Given the description of an element on the screen output the (x, y) to click on. 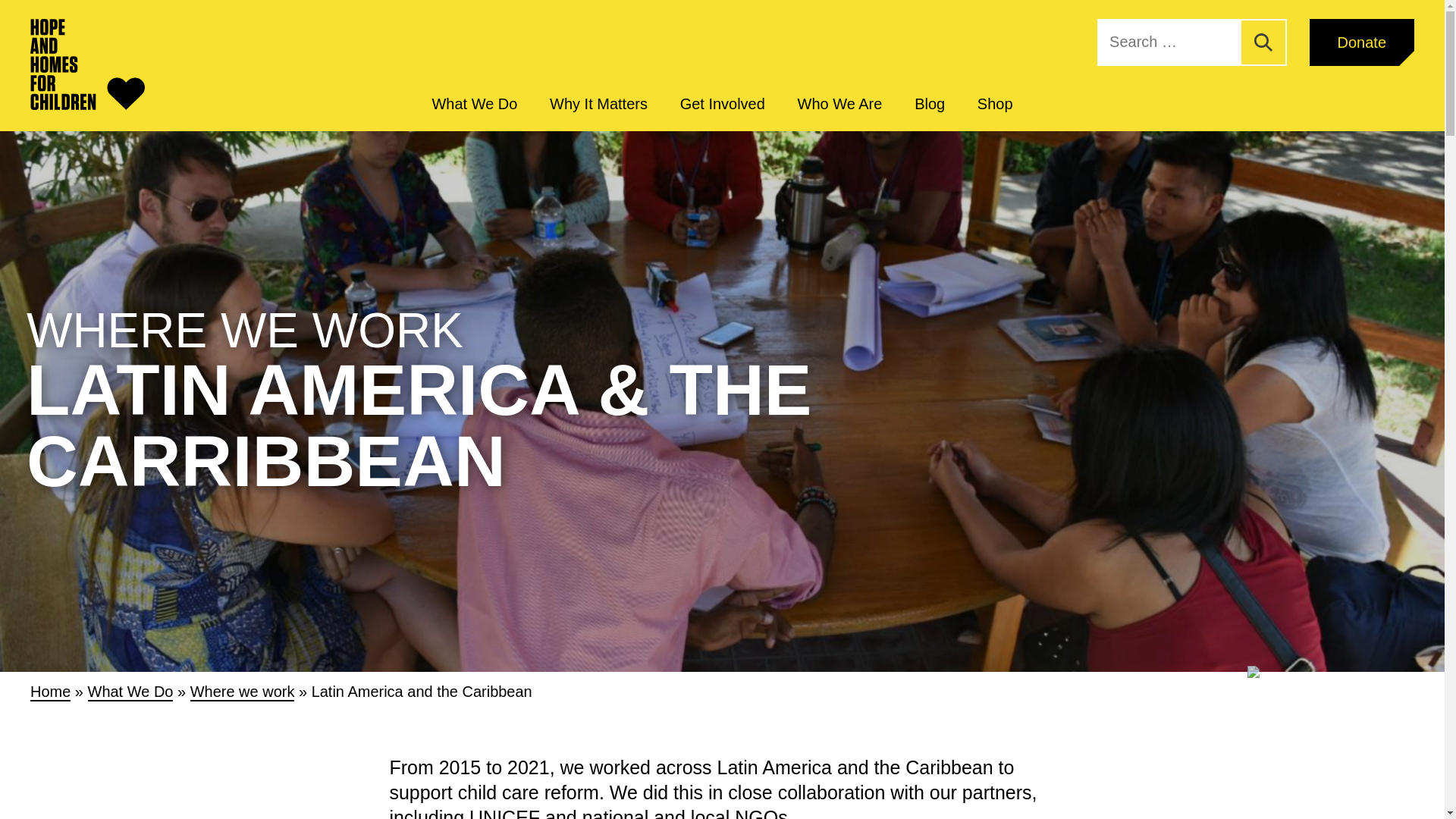
Search (1263, 42)
Shop (994, 104)
Home (49, 692)
Get Involved (722, 104)
Who We Are (839, 104)
Where we work (242, 692)
Donate (1360, 42)
Blog (929, 104)
What We Do (473, 104)
Search (1263, 42)
